Given the description of an element on the screen output the (x, y) to click on. 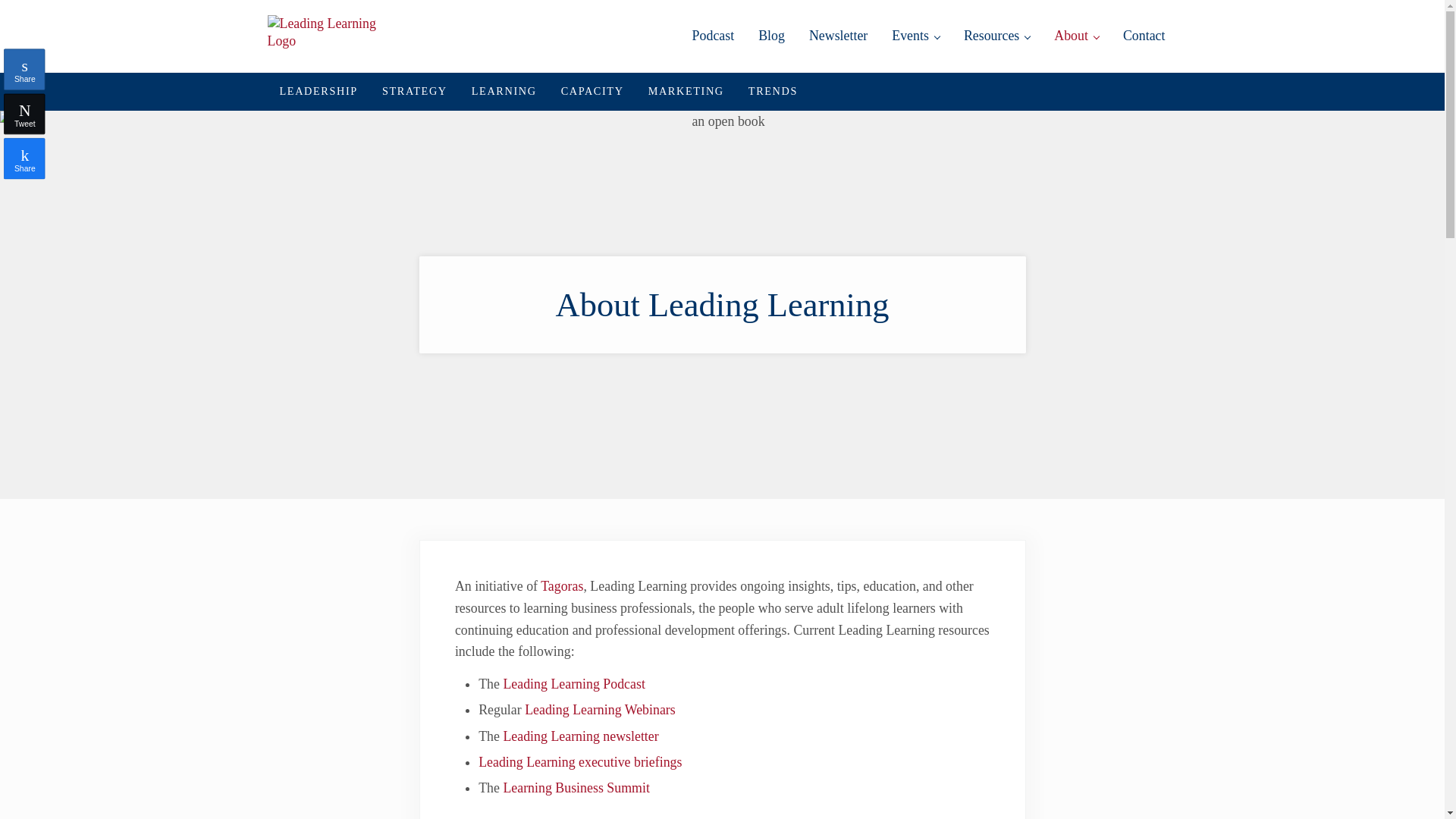
Events (915, 35)
About (1076, 35)
Contact (1143, 35)
LEADERSHIP (317, 90)
Blog (770, 35)
CAPACITY (592, 90)
Leading Learning Webinars (599, 709)
Tagoras General (561, 585)
LEARNING (504, 90)
Leading Learning newsletter (580, 735)
Leading Learning executive briefings (580, 761)
STRATEGY (414, 90)
Leading Learning Podcast (573, 683)
Podcast (712, 35)
